Given the description of an element on the screen output the (x, y) to click on. 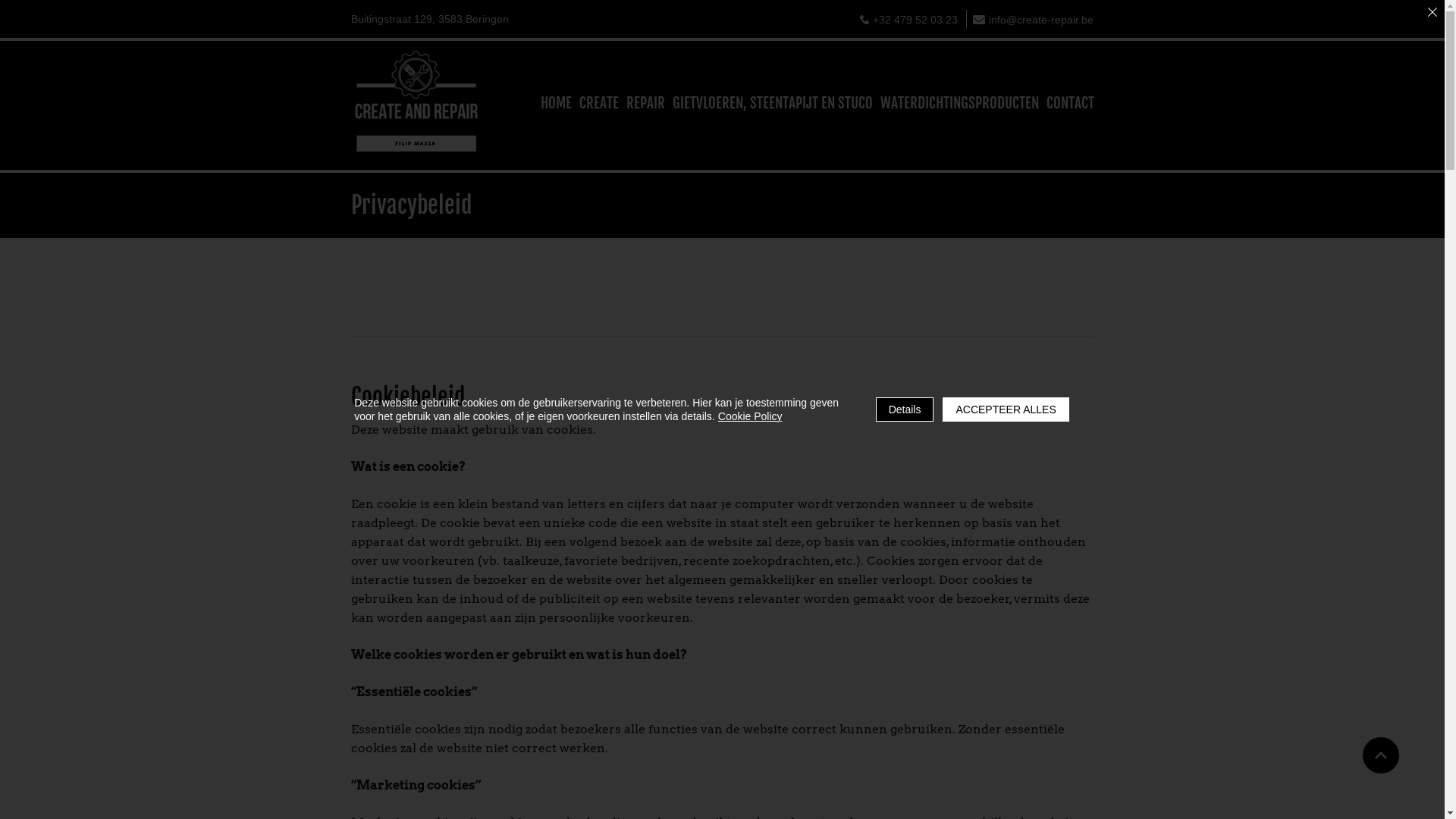
CONTACT Element type: text (1070, 104)
GIETVLOEREN, STEENTAPIJT EN STUCO Element type: text (771, 104)
info@create-repair.be Element type: text (1033, 18)
+32 479 52 03 23 Element type: text (908, 18)
HOME Element type: text (555, 104)
REPAIR Element type: text (645, 104)
WATERDICHTINGSPRODUCTEN Element type: text (958, 104)
CREATE Element type: text (598, 104)
